Given the description of an element on the screen output the (x, y) to click on. 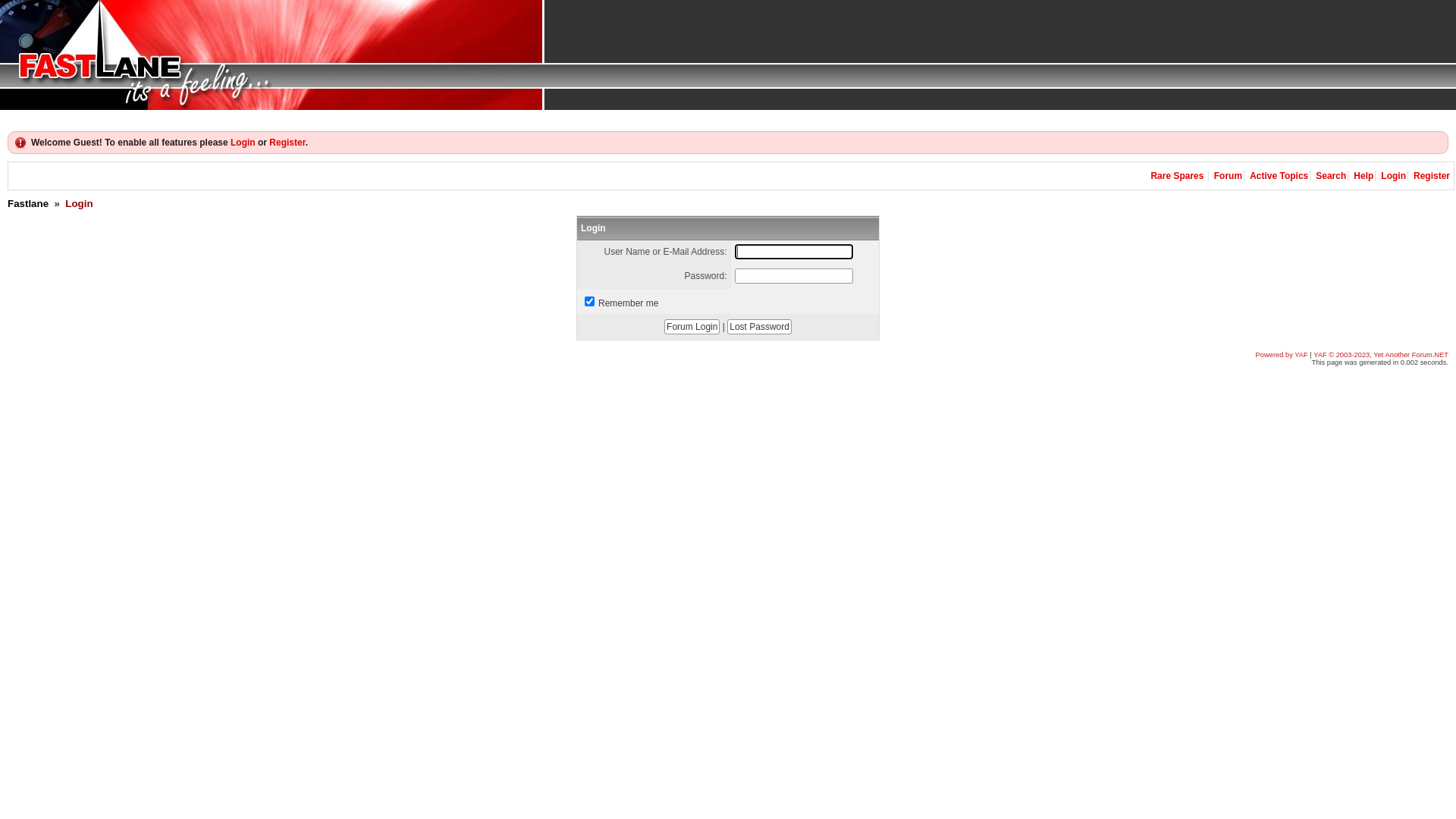
Fastlane Element type: text (27, 203)
Login Element type: text (1393, 175)
Register Element type: text (1431, 175)
Lost Password Element type: text (759, 326)
Powered by YAF Element type: text (1281, 354)
Forum Element type: text (1227, 175)
Rare Spares Element type: text (1176, 175)
Search Element type: text (1330, 175)
Login Element type: text (242, 142)
Help Element type: text (1363, 175)
Register Element type: text (286, 142)
Forum Login Element type: text (691, 326)
Active Topics Element type: text (1278, 175)
